Given the description of an element on the screen output the (x, y) to click on. 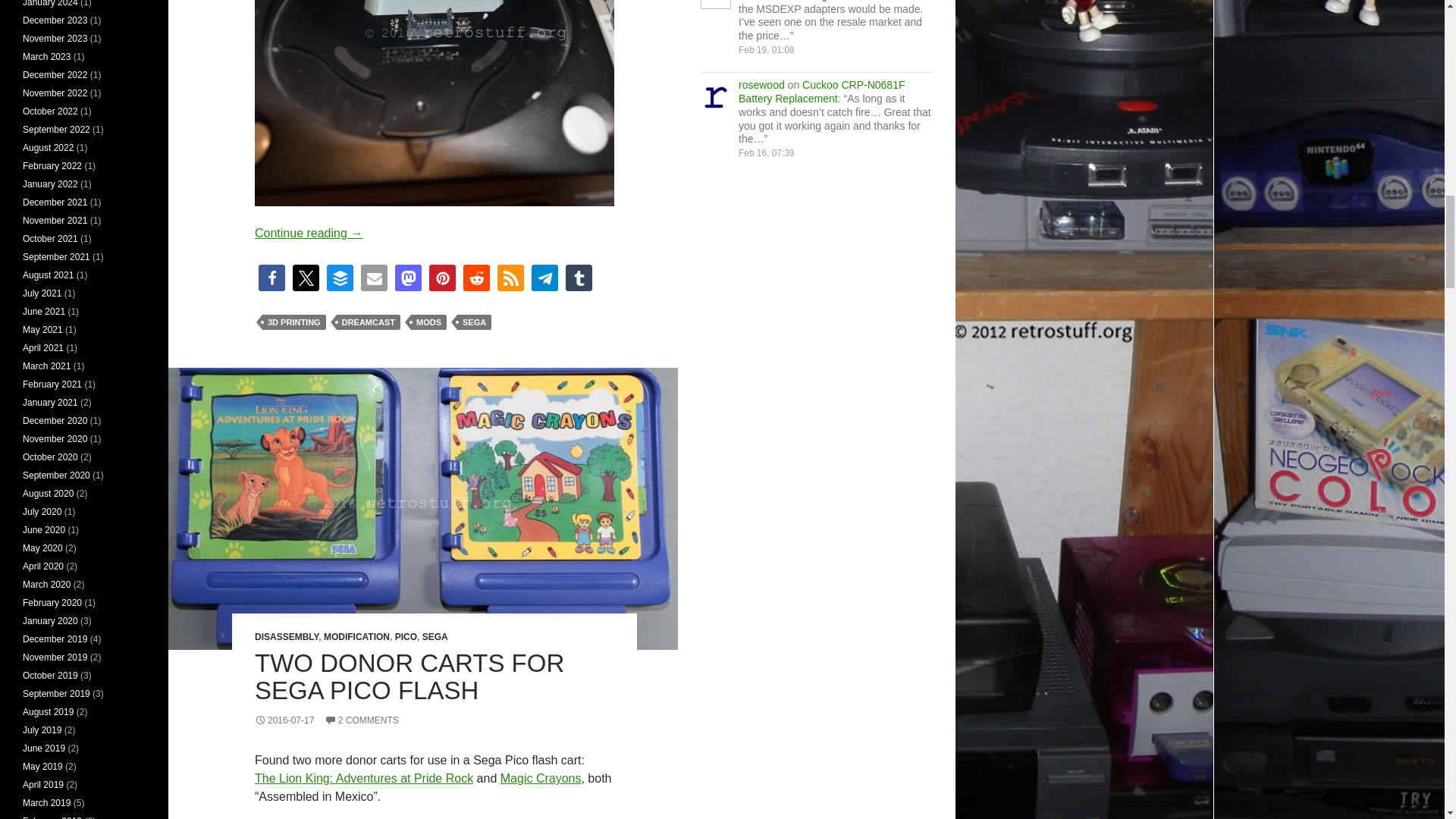
Share on buffer (339, 277)
Share on Facebook (272, 277)
Share on X (305, 277)
Share on Mastodon (408, 277)
Send by email (374, 277)
